Given the description of an element on the screen output the (x, y) to click on. 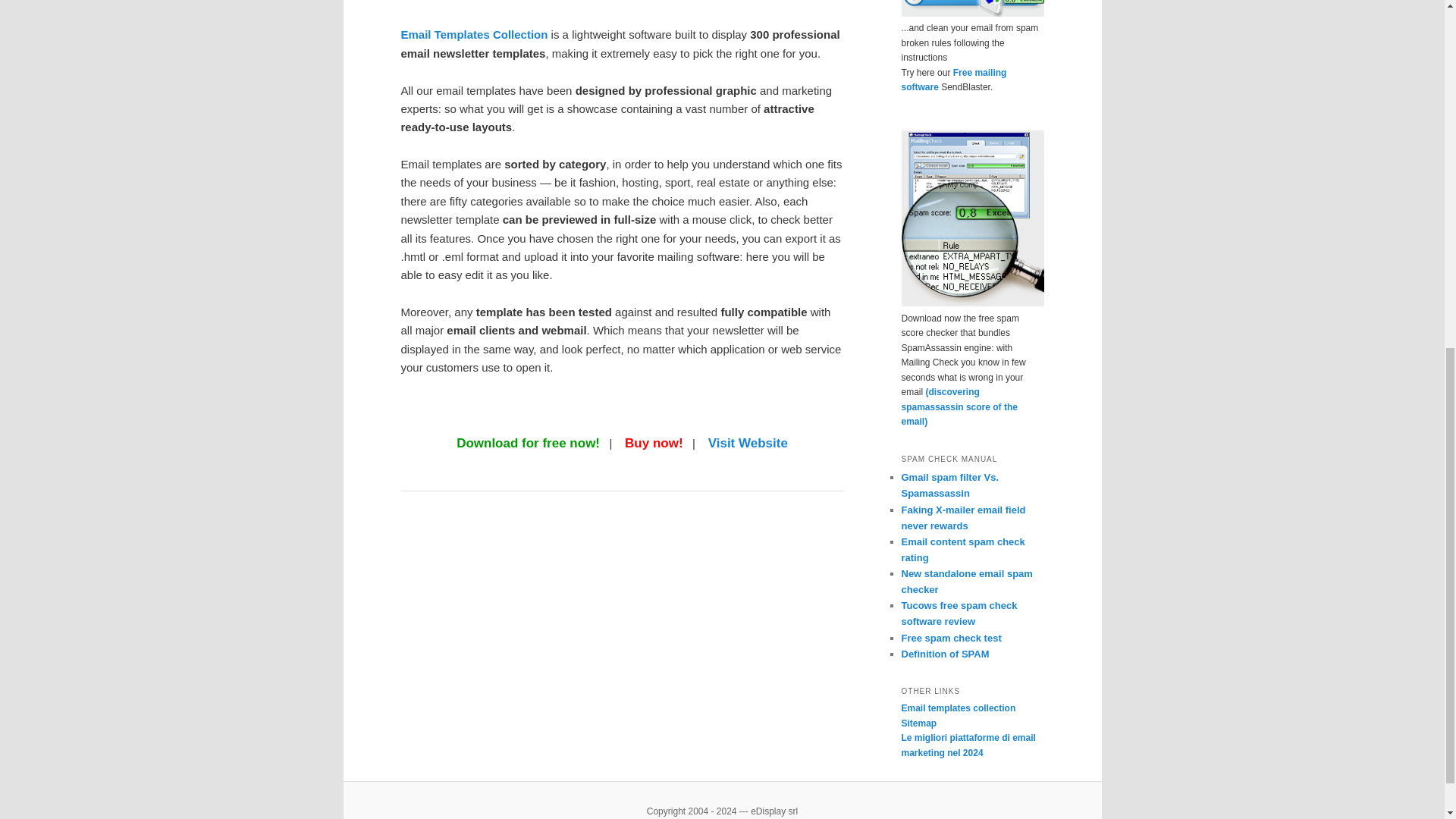
Sitemap (918, 723)
Email newsletter template collection (473, 33)
New standalone email spam checker (966, 581)
Email newsletter template collection (747, 442)
Definition of SPAM (944, 654)
Email newsletter template collection (553, 2)
Free spam check test (951, 637)
Gmail spam filter Vs. Spamassassin (949, 484)
Le migliori piattaforme di email marketing nel 2024 (968, 745)
Step 3: Clean your email (972, 7)
Download for free now! (528, 442)
Email newsletter template collection, download for free now! (528, 442)
Free mailing software (953, 80)
Email Templates Collection (473, 33)
Email content spam check rating (963, 549)
